Given the description of an element on the screen output the (x, y) to click on. 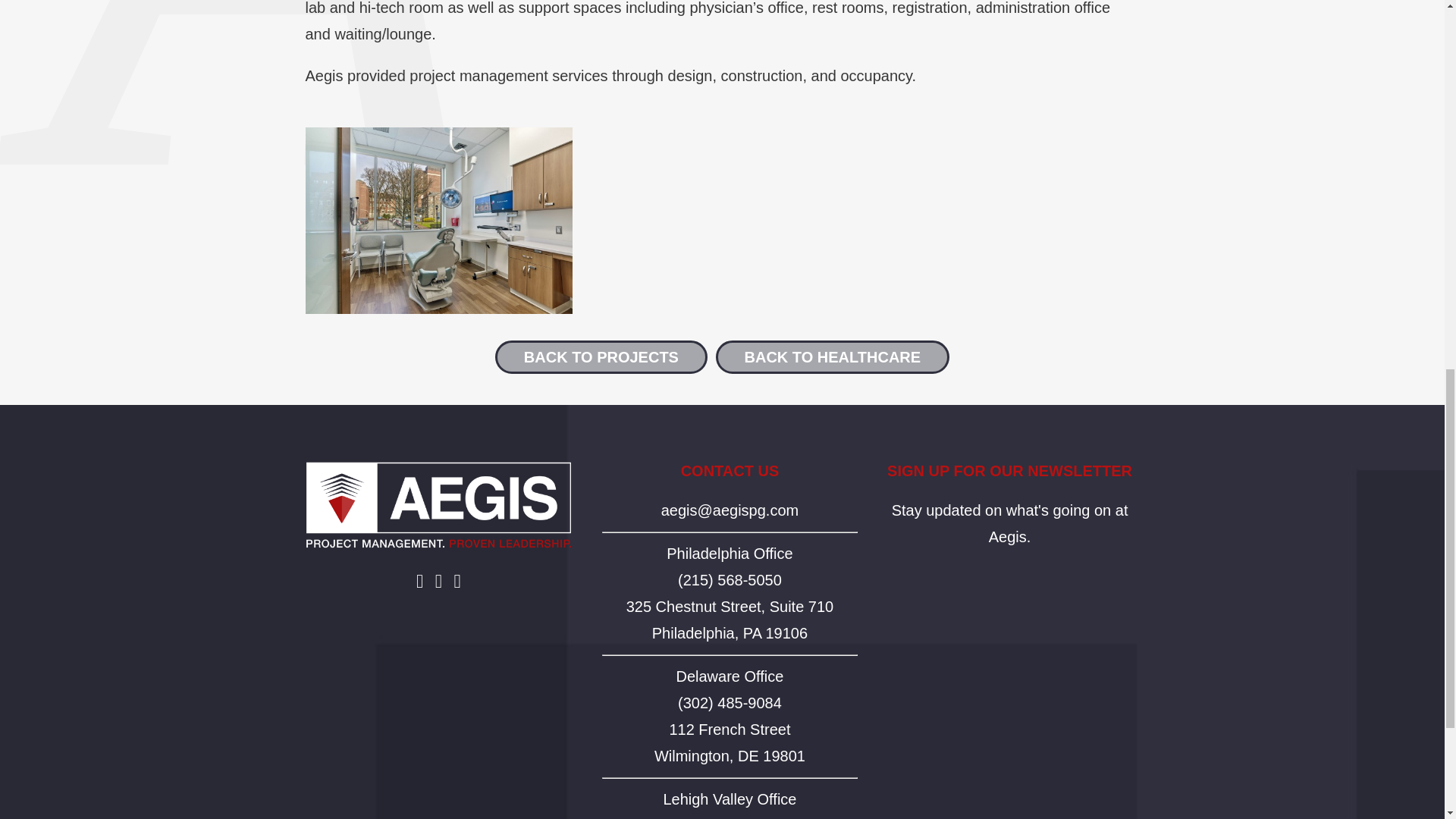
Philadelphia Office (729, 553)
BACK TO HEALTHCARE (833, 356)
Lehigh Valley Office (729, 799)
JeffersonMaxillofacialAtBrynMawrHosp (438, 220)
BACK TO PROJECTS (601, 356)
Delaware Office (729, 676)
112 French Street (729, 729)
Wilmington, DE 19801 (730, 619)
